Given the description of an element on the screen output the (x, y) to click on. 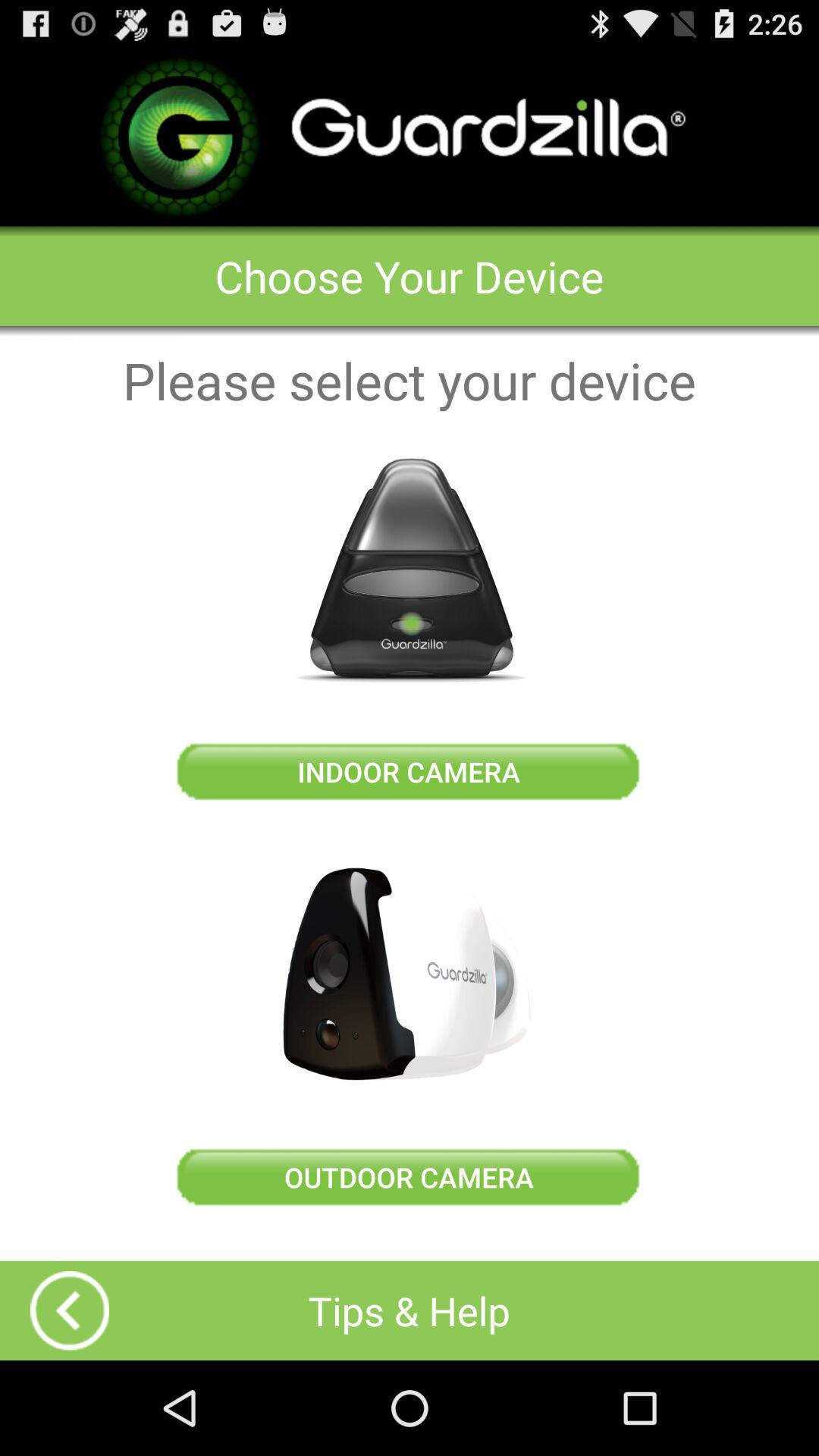
outdoor camera (408, 973)
